Given the description of an element on the screen output the (x, y) to click on. 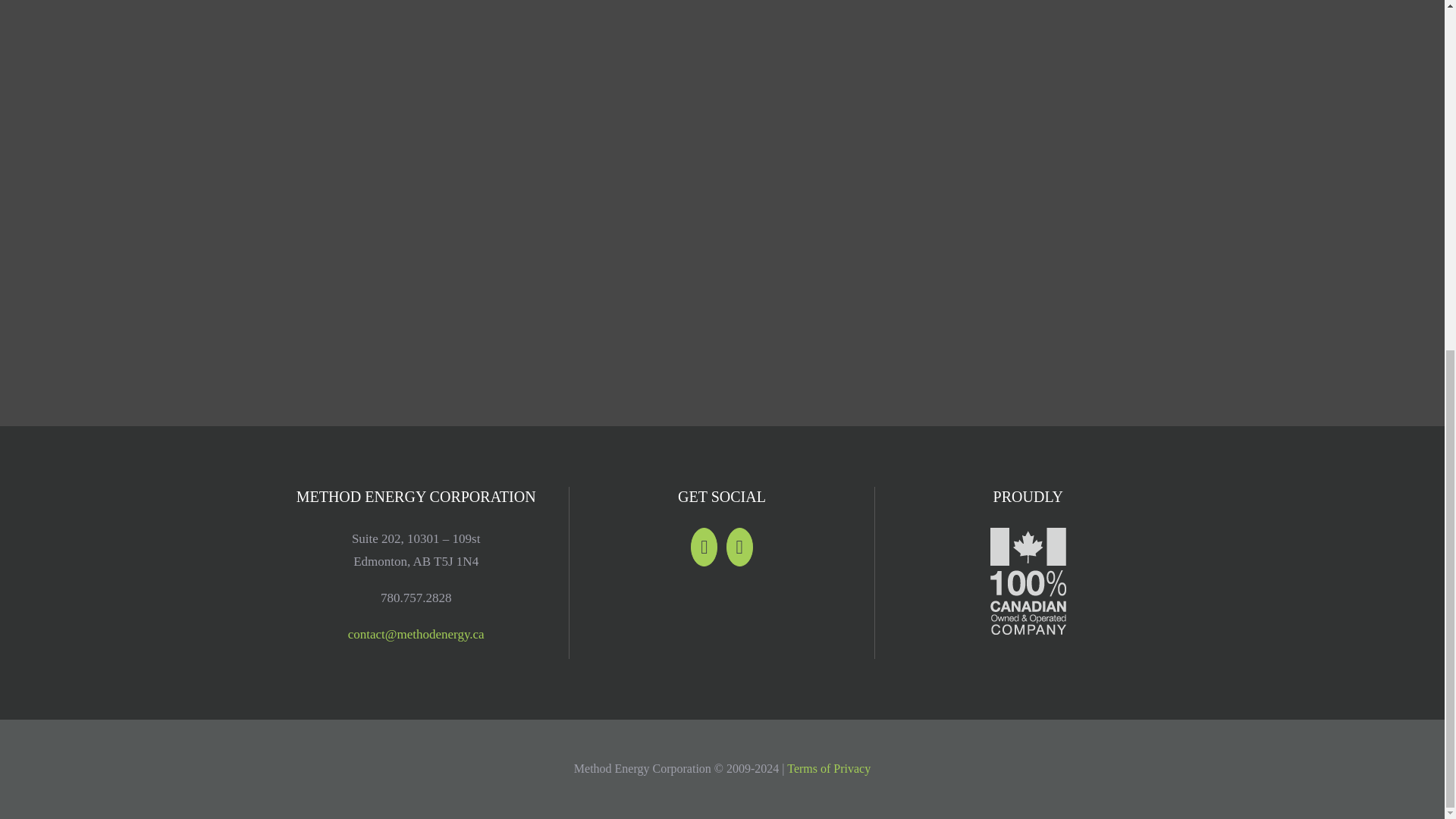
Facebook (739, 546)
Twitter (703, 546)
Terms of Privacy (828, 768)
